Given the description of an element on the screen output the (x, y) to click on. 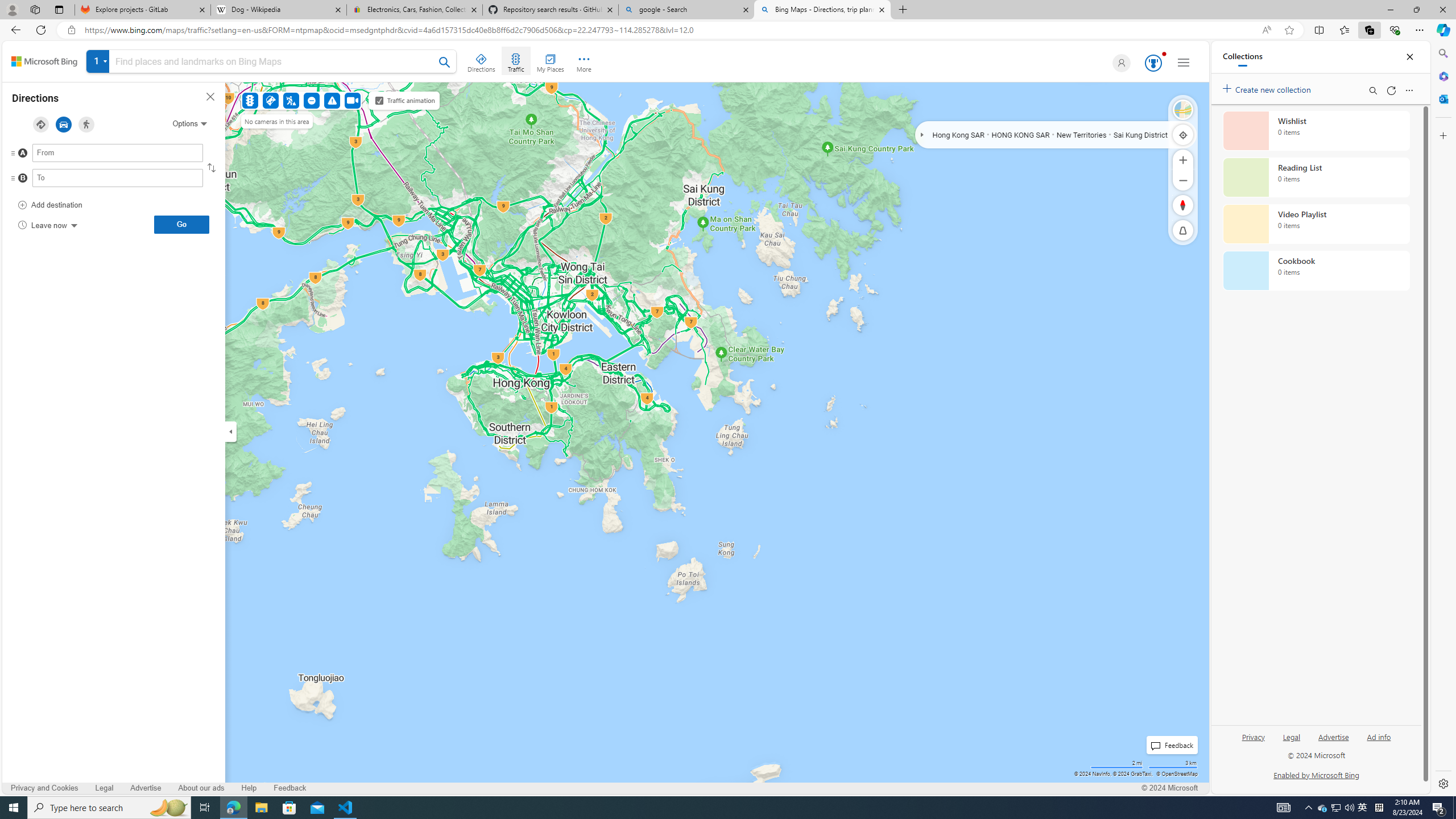
Default Profile Picture (1121, 63)
Back (13, 29)
Animation (1163, 53)
More options menu (1409, 90)
View site information (70, 29)
Bird's eye (1182, 109)
Directions (481, 60)
About our ads (200, 787)
My Places (549, 60)
AutomationID: serp_medal_svg (1152, 63)
About our ads (200, 787)
Zoom Out (1182, 180)
Create new collection (1268, 87)
Close (1409, 56)
Dog - Wikipedia (277, 9)
